Given the description of an element on the screen output the (x, y) to click on. 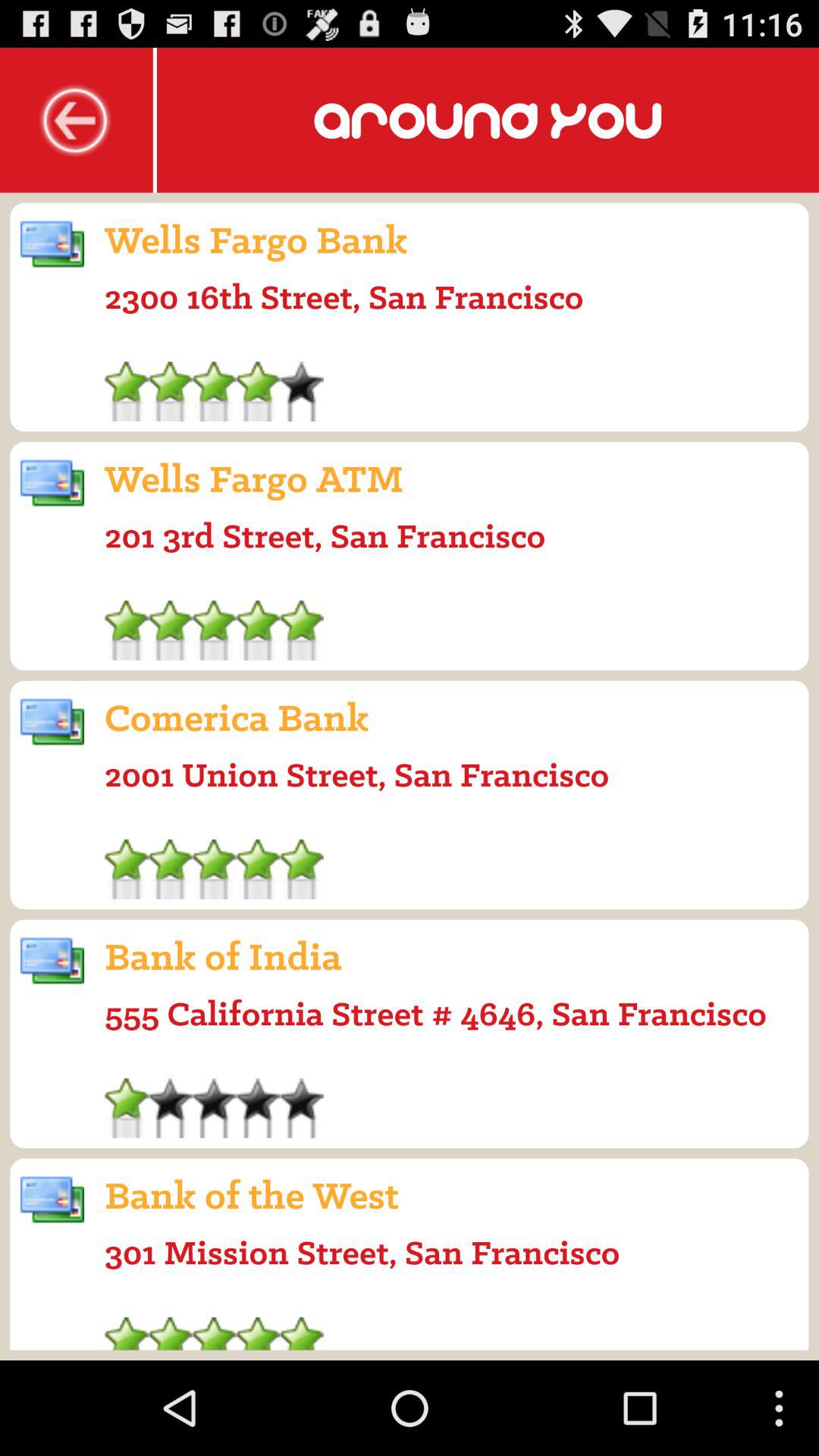
launch comerica bank icon (236, 717)
